Given the description of an element on the screen output the (x, y) to click on. 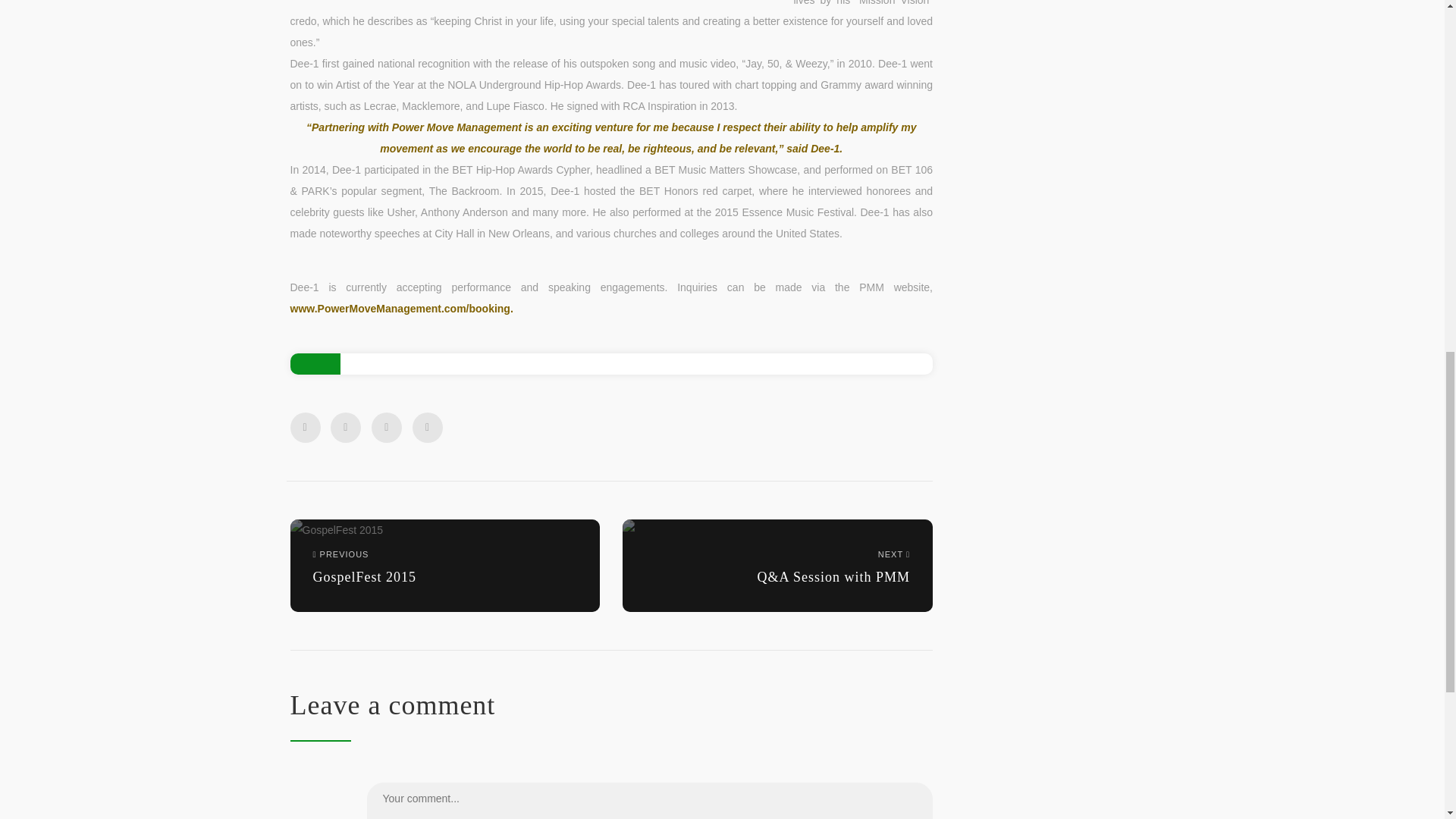
Email this (427, 427)
Share on Google Plus (386, 427)
Share on Facebook (304, 427)
Share on Twitter (345, 427)
